Given the description of an element on the screen output the (x, y) to click on. 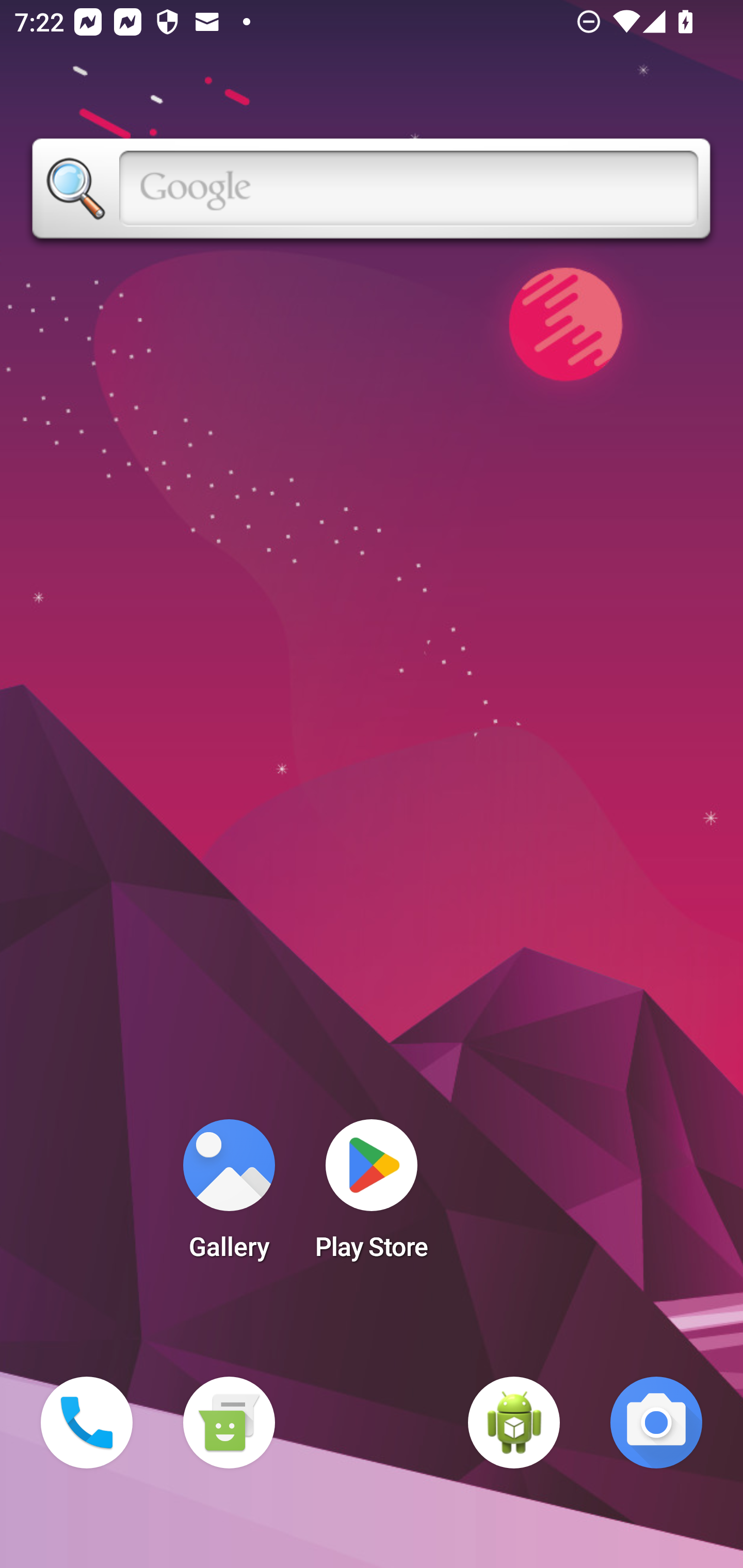
Gallery (228, 1195)
Play Store (371, 1195)
Phone (86, 1422)
Messaging (228, 1422)
WebView Browser Tester (513, 1422)
Camera (656, 1422)
